Given the description of an element on the screen output the (x, y) to click on. 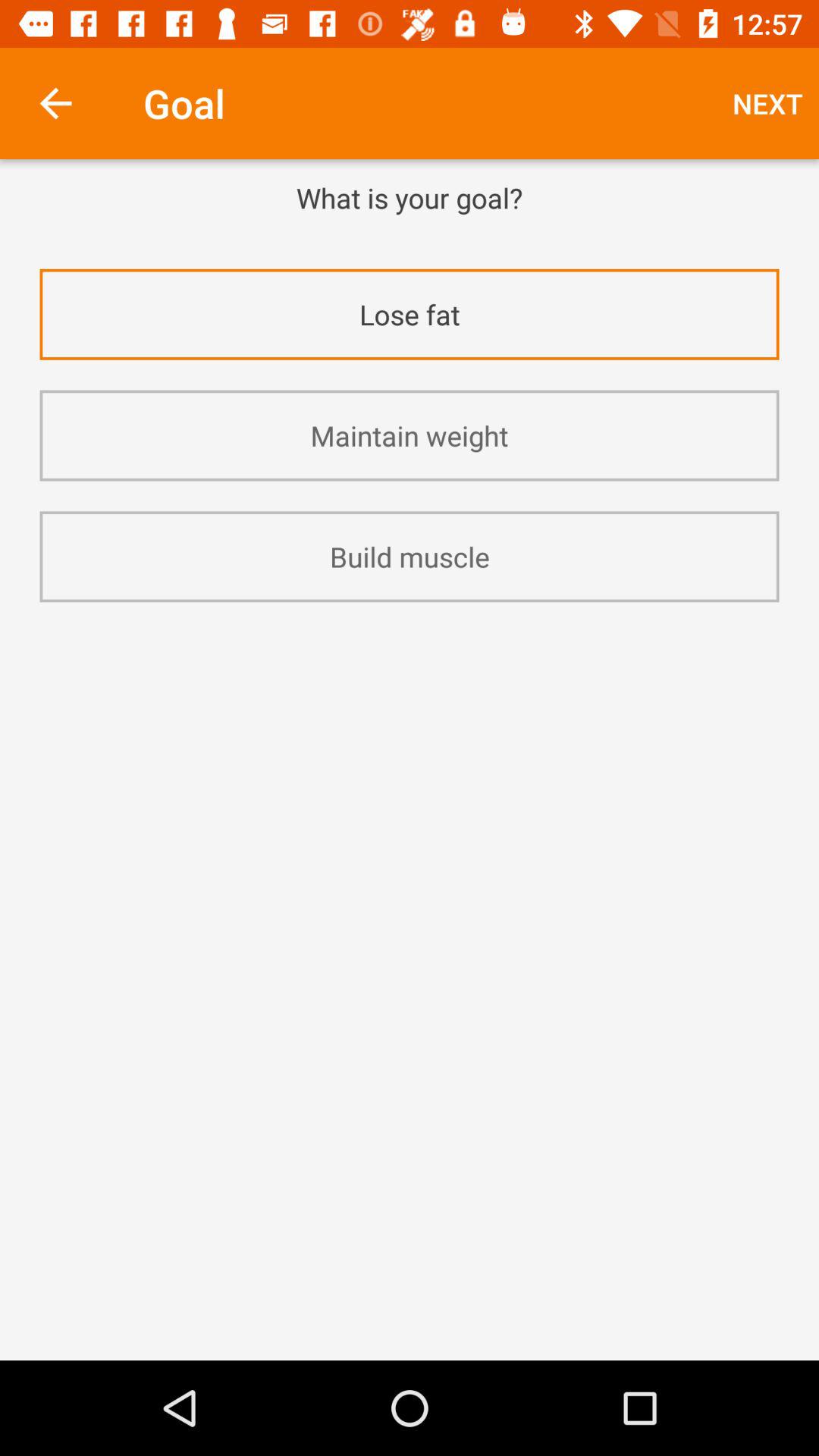
click icon below what is your item (409, 237)
